Given the description of an element on the screen output the (x, y) to click on. 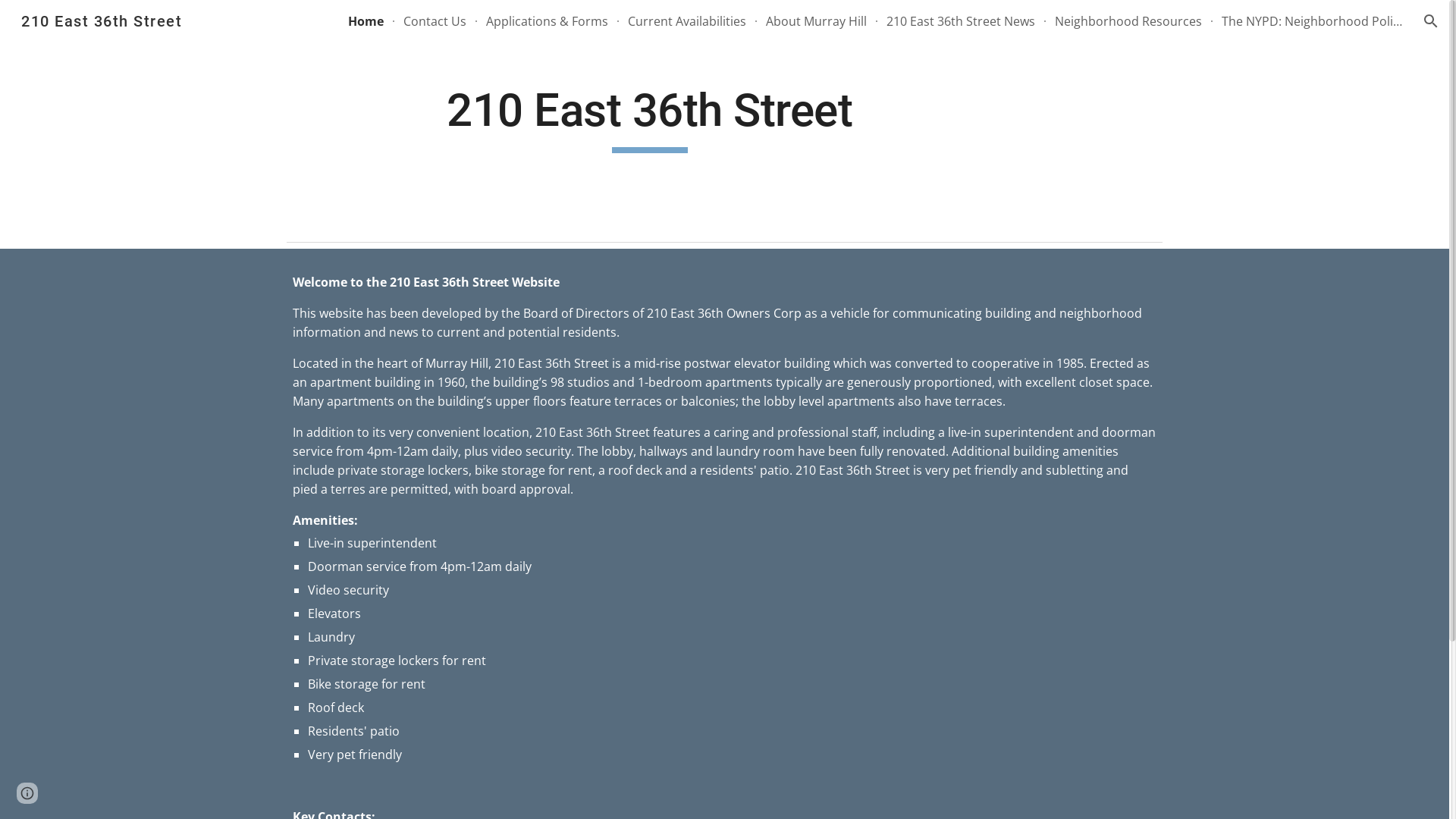
Current Availabilities Element type: text (686, 20)
Contact Us Element type: text (434, 20)
Home Element type: text (365, 20)
Neighborhood Resources Element type: text (1127, 20)
210 East 36th Street News Element type: text (960, 20)
210 East 36th Street Element type: text (101, 19)
The NYPD: Neighborhood Policing Element type: text (1312, 20)
About Murray Hill Element type: text (815, 20)
Applications & Forms Element type: text (547, 20)
